Given the description of an element on the screen output the (x, y) to click on. 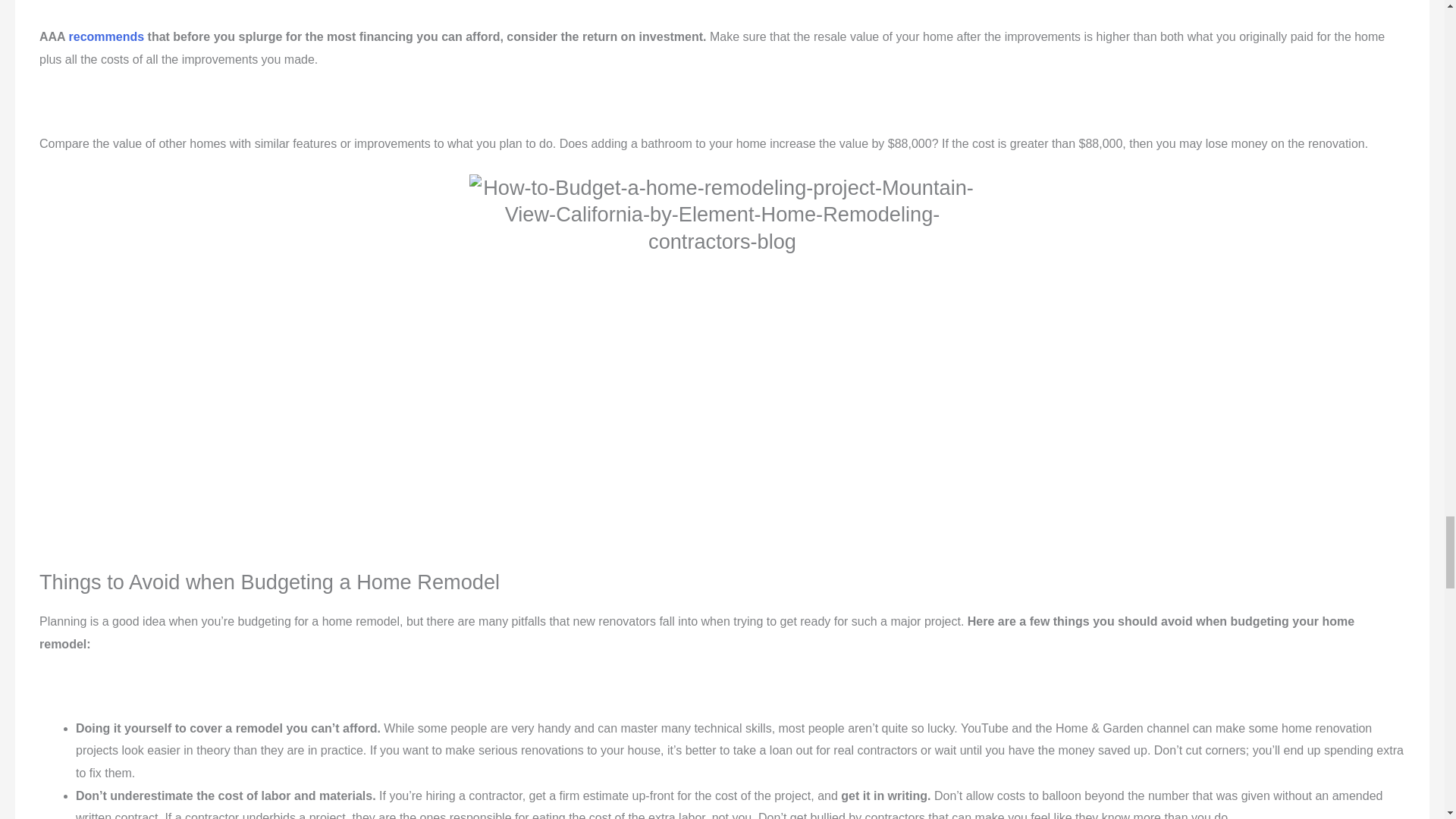
recommends (106, 6)
